Given the description of an element on the screen output the (x, y) to click on. 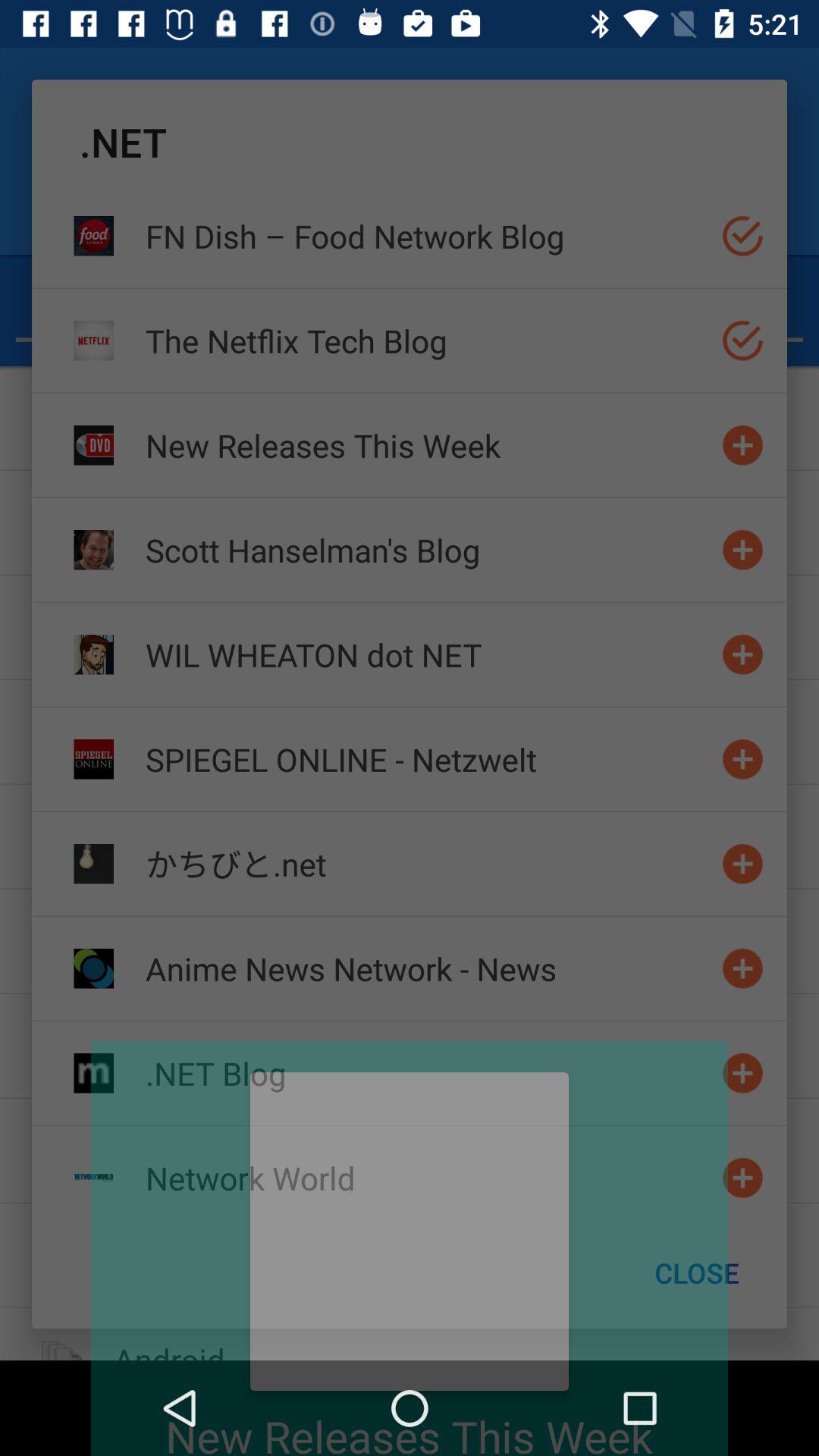
open icon below the the netflix tech icon (426, 444)
